Given the description of an element on the screen output the (x, y) to click on. 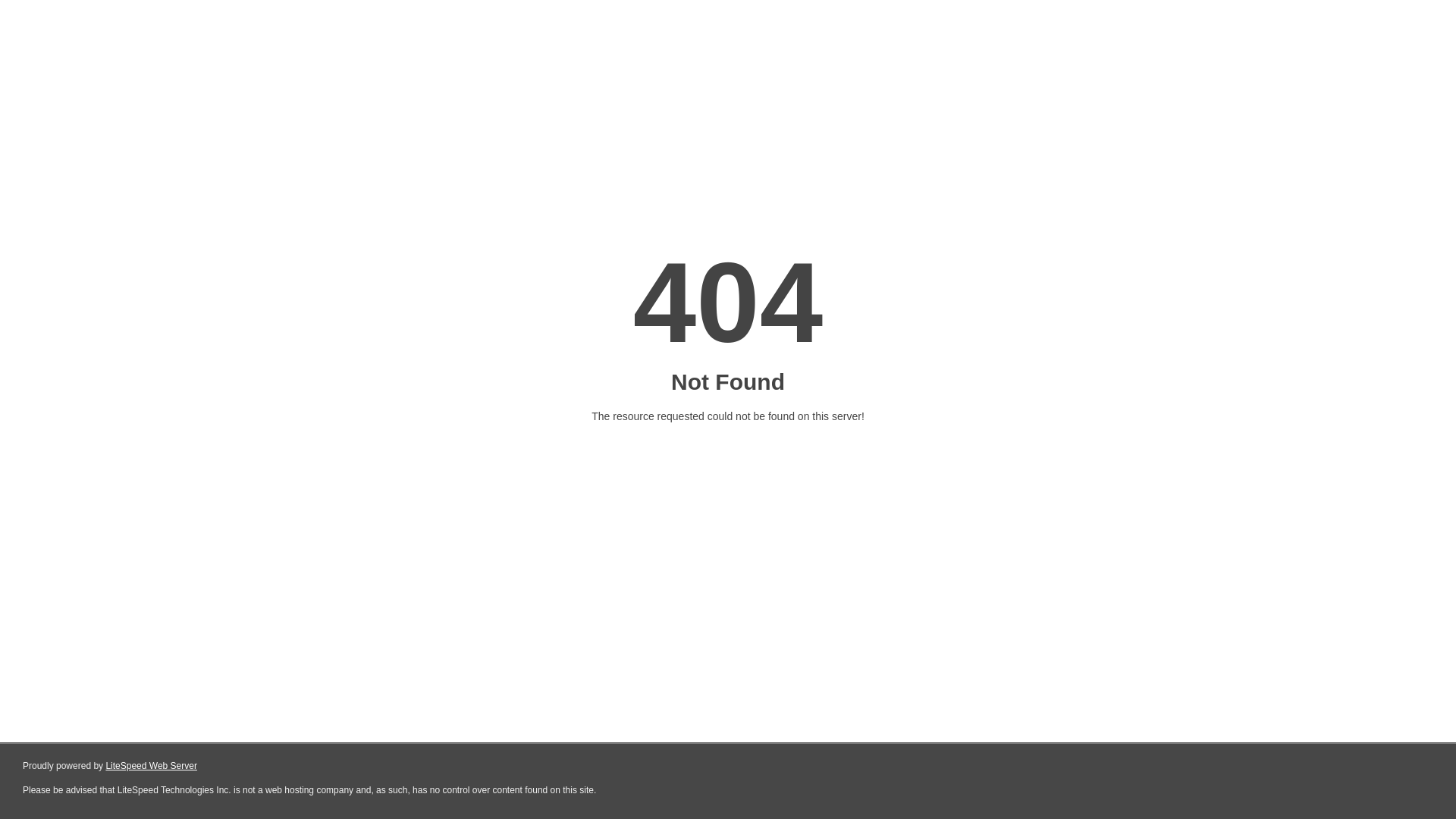
LiteSpeed Web Server Element type: text (151, 765)
